Given the description of an element on the screen output the (x, y) to click on. 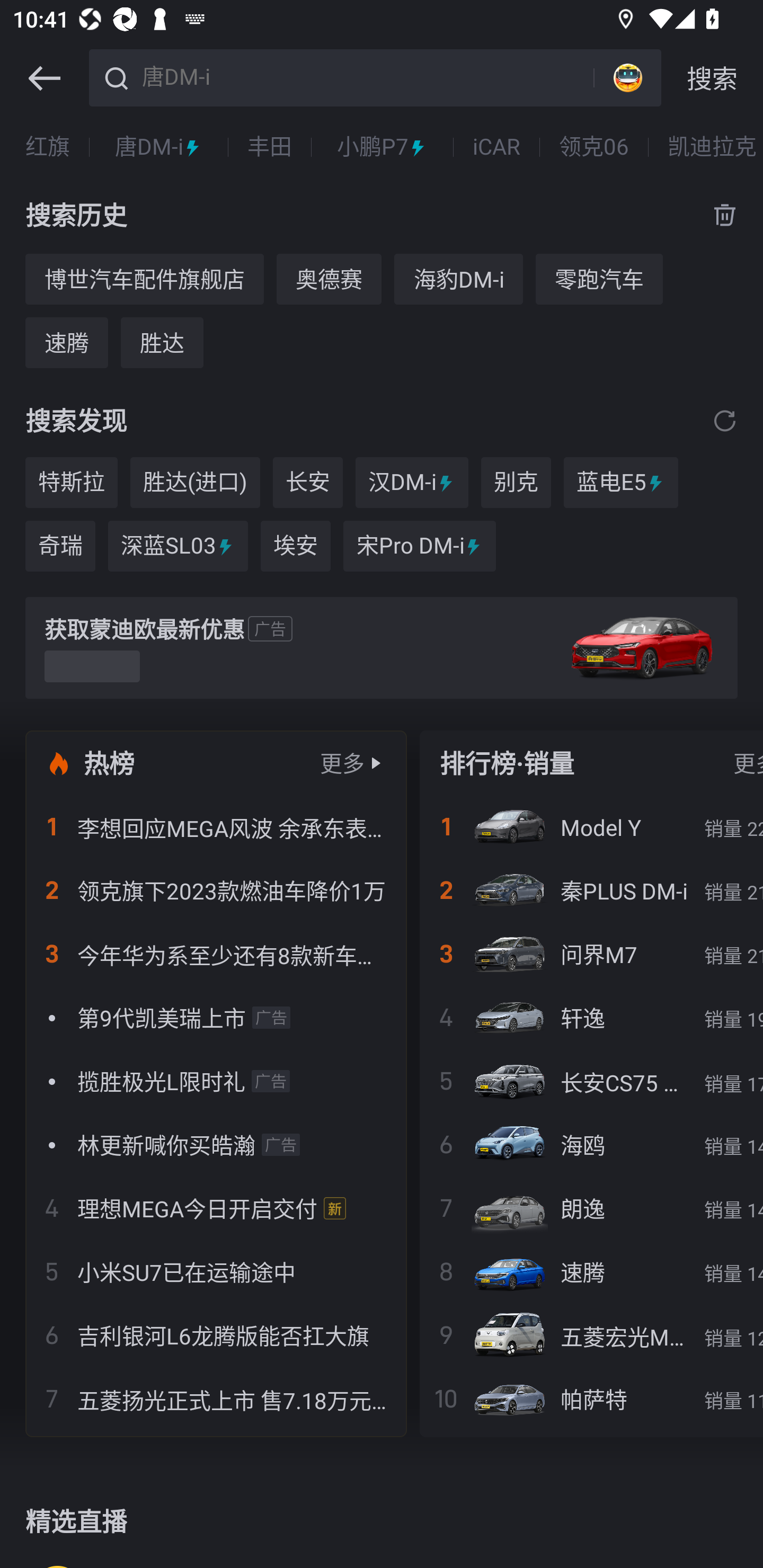
 唐DM-i (364, 76)
 (44, 78)
搜索 (711, 78)
红旗 (47, 147)
唐DM-i (158, 147)
丰田 (269, 147)
小鹏P7 (382, 147)
iCAR (496, 147)
领克06 (593, 147)
凯迪拉克 (711, 147)
博世汽车配件旗舰店 (144, 278)
奥德赛 (329, 278)
海豹DM-i (458, 278)
零跑汽车 (598, 278)
速腾 (66, 342)
胜达 (161, 342)
 (724, 419)
特斯拉 (71, 482)
胜达(进口) (195, 482)
长安 (307, 482)
汉DM-i (411, 482)
别克 (515, 482)
蓝电E5 (620, 482)
奇瑞 (60, 546)
深蓝SL03 (177, 546)
埃安 (295, 546)
宋Pro DM-i (419, 546)
获取蒙迪欧最新优惠 广告 立享优惠 (381, 648)
更多 (341, 762)
李想回应MEGA风波 余承东表态 (215, 826)
Model Y 销量 22537 (591, 826)
领克旗下2023款燃油车降价1万 (215, 890)
秦PLUS DM-i 销量 21268 (591, 890)
今年华为系至少还有8款新车要来 (215, 953)
问界M7 销量 21083 (591, 953)
第9代凯美瑞上市 (215, 1017)
轩逸 销量 19878 (591, 1017)
揽胜极光L限时礼 (215, 1080)
长安CS75 PLUS 销量 17303 (591, 1080)
林更新喊你买皓瀚 (215, 1144)
海鸥 销量 14403 (591, 1144)
理想MEGA今日开启交付 (215, 1208)
朗逸 销量 14400 (591, 1208)
小米SU7已在运输途中 (215, 1271)
速腾 销量 14209 (591, 1271)
吉利银河L6龙腾版能否扛大旗 (215, 1335)
五菱宏光MINIEV 销量 12649 (591, 1335)
五菱扬光正式上市 售7.18万元起 (215, 1398)
帕萨特 销量 11641 (591, 1398)
